Given the description of an element on the screen output the (x, y) to click on. 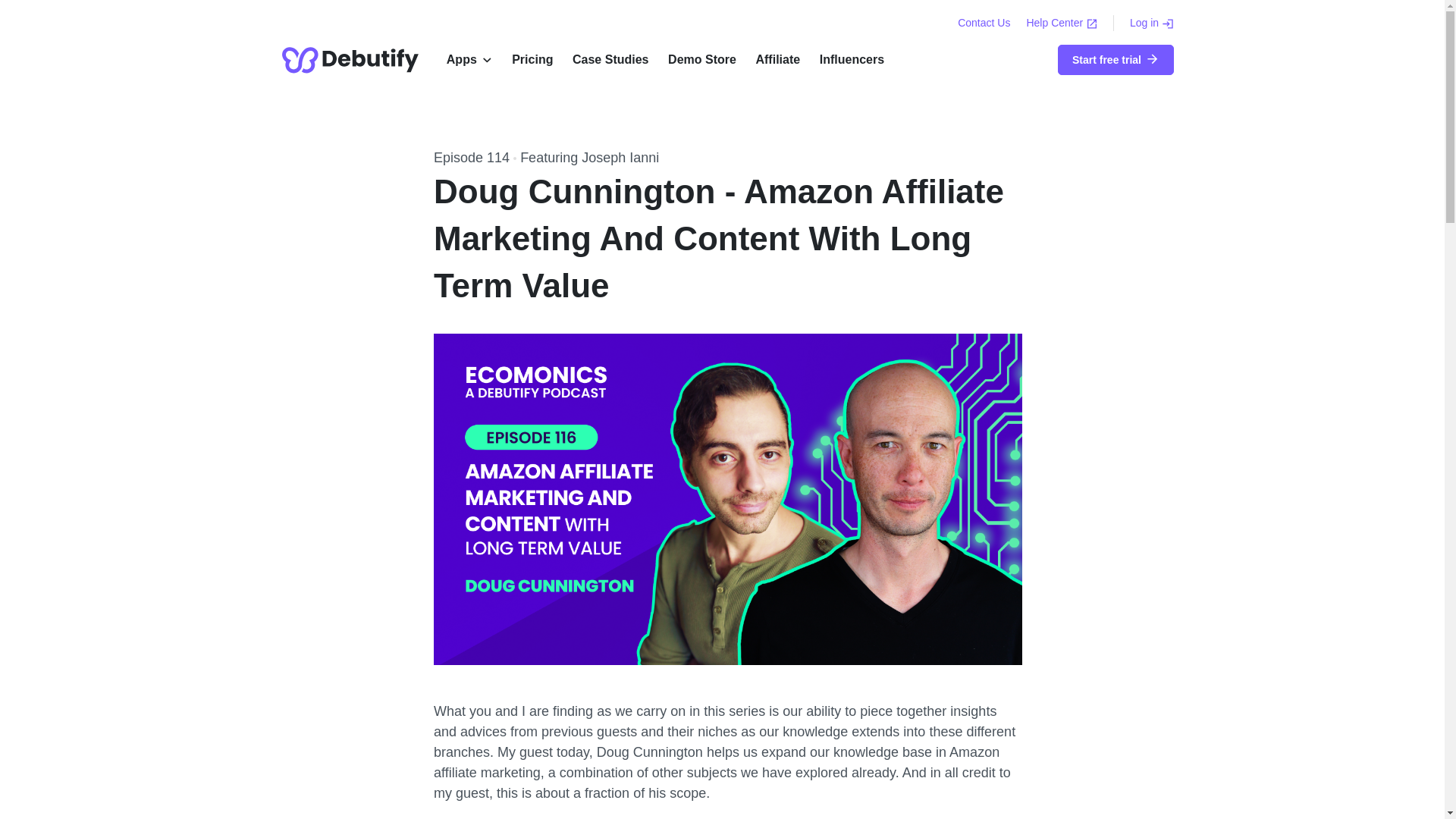
Influencers (851, 60)
Start free trial (1115, 60)
Pricing (532, 60)
Demo Store (701, 60)
Contact Us (984, 22)
Log in (1151, 22)
Case Studies (610, 60)
Affiliate (777, 60)
Help Center (1063, 22)
Apps (461, 60)
